Given the description of an element on the screen output the (x, y) to click on. 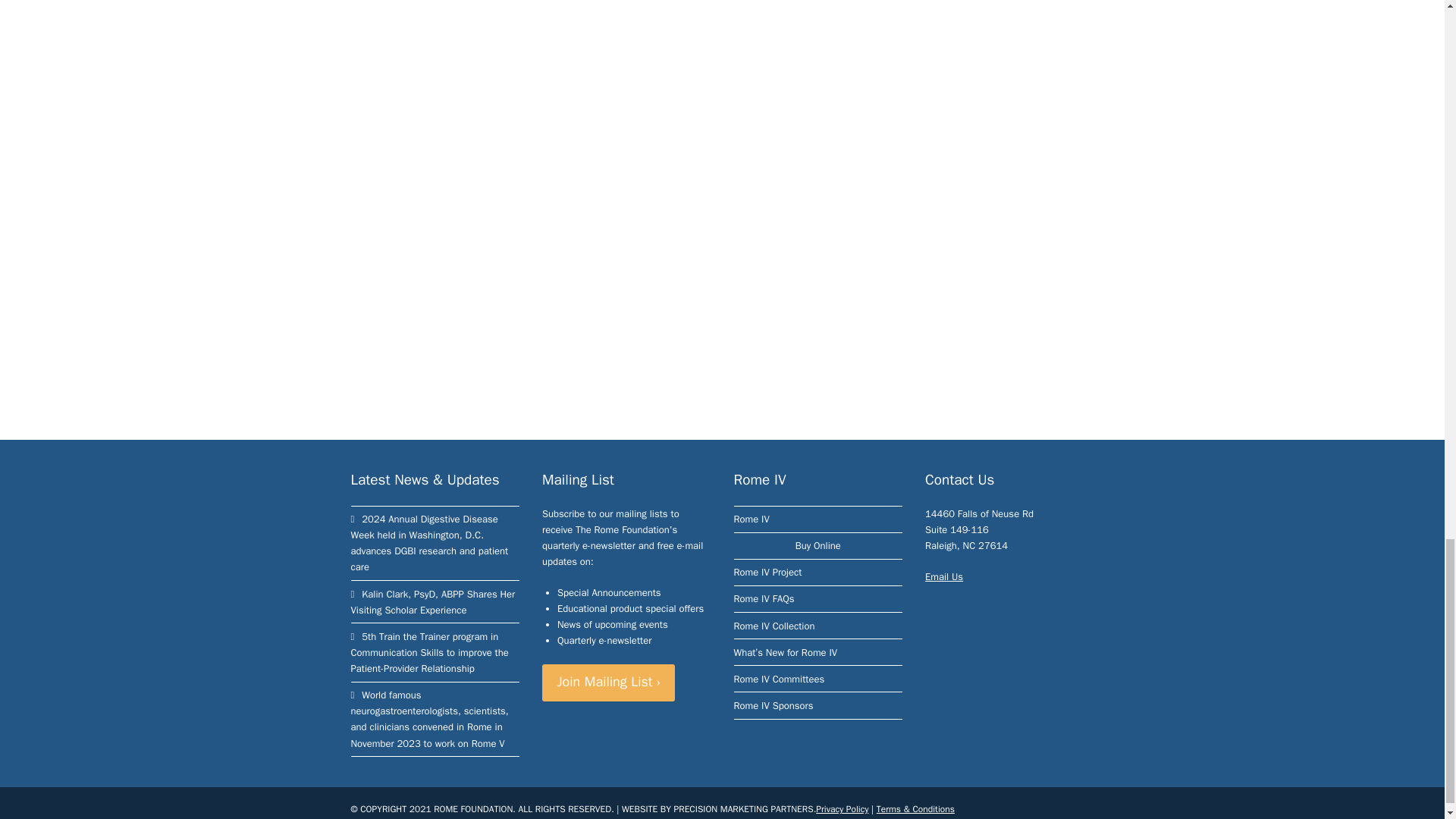
Join Mailing List (608, 682)
